Given the description of an element on the screen output the (x, y) to click on. 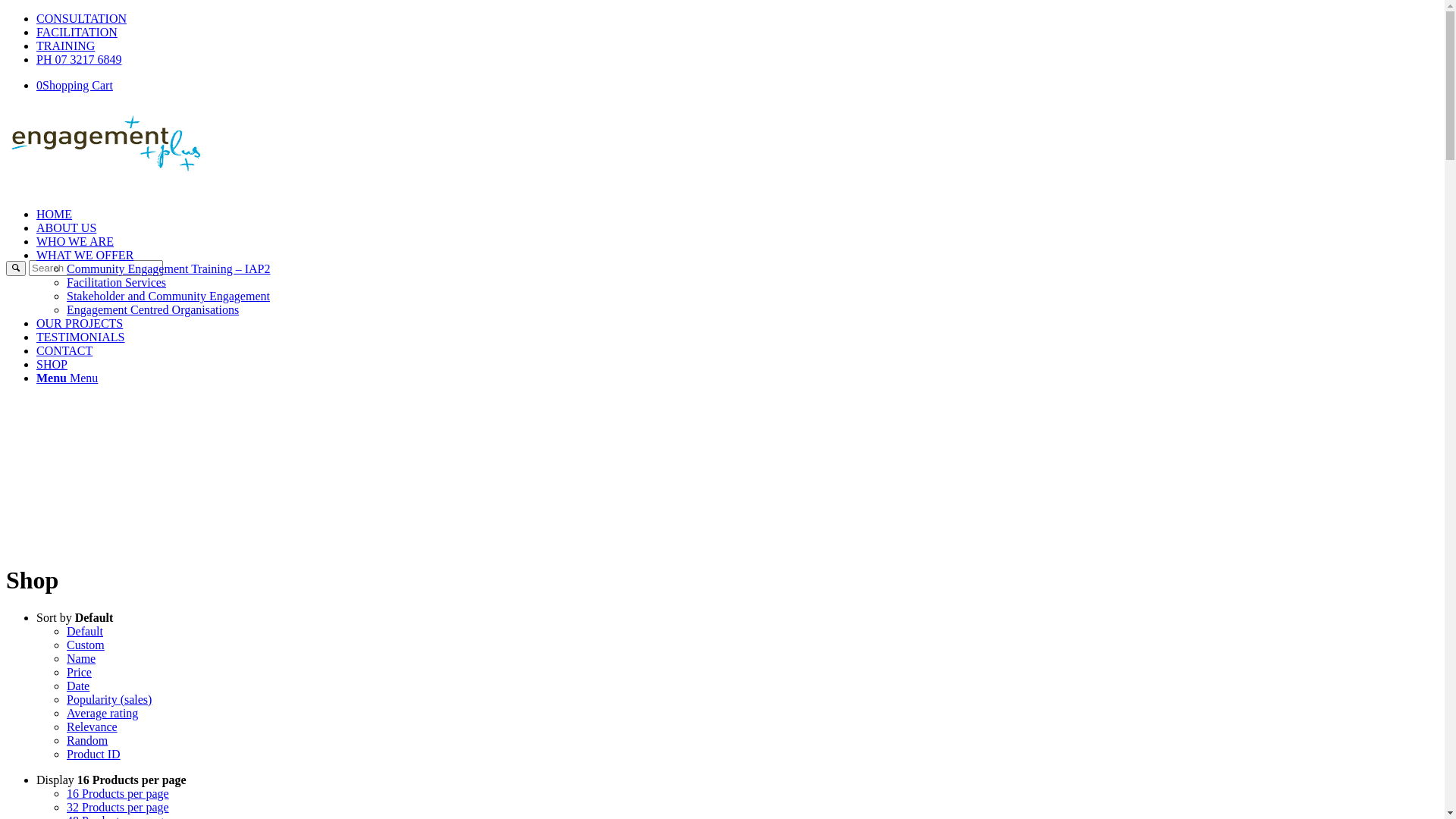
HOME Element type: text (54, 213)
Average rating Element type: text (102, 712)
Price Element type: text (78, 671)
Engagement Centred Organisations Element type: text (152, 309)
ep-logo2 Element type: hover (119, 142)
Name Element type: text (80, 658)
Popularity (sales) Element type: text (108, 699)
TRAINING Element type: text (65, 45)
ABOUT US Element type: text (66, 227)
SHOP Element type: text (51, 363)
Custom Element type: text (85, 644)
CONTACT Element type: text (64, 350)
0Shopping Cart Element type: text (74, 84)
Date Element type: text (77, 685)
Menu Menu Element type: text (66, 377)
CONSULTATION Element type: text (81, 18)
16 Products per page Element type: text (117, 793)
WHO WE ARE Element type: text (74, 241)
Product ID Element type: text (93, 753)
TESTIMONIALS Element type: text (80, 336)
Random Element type: text (86, 740)
PH 07 3217 6849 Element type: text (78, 59)
32 Products per page Element type: text (117, 806)
Stakeholder and Community Engagement Element type: text (167, 295)
Default Element type: text (84, 630)
WHAT WE OFFER Element type: text (84, 254)
FACILITATION Element type: text (76, 31)
OUR PROJECTS Element type: text (79, 322)
Facilitation Services Element type: text (116, 282)
Relevance Element type: text (91, 726)
